Given the description of an element on the screen output the (x, y) to click on. 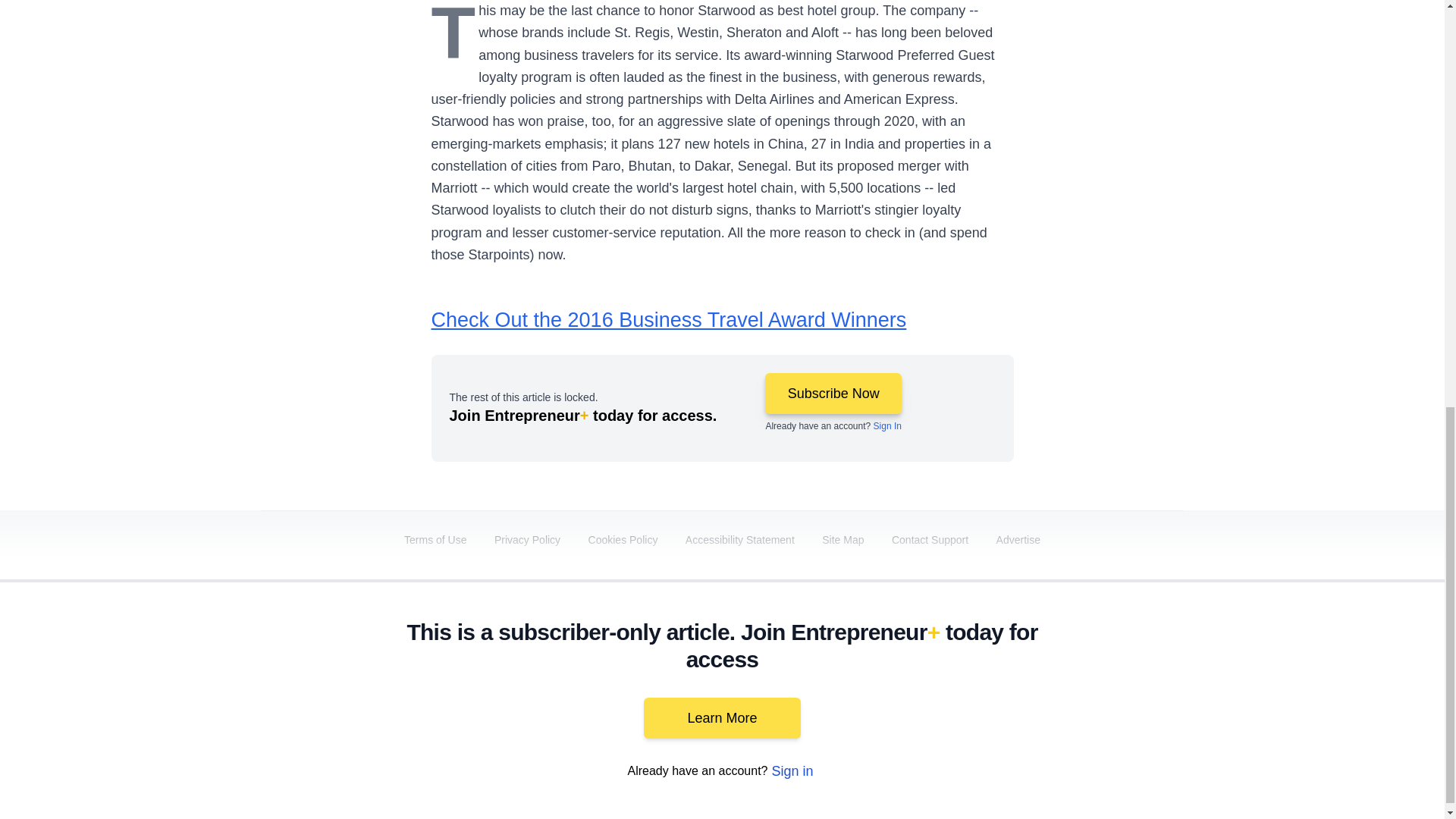
rss (1164, 700)
tiktok (1079, 700)
snapchat (1121, 700)
instagram (1037, 700)
linkedin (952, 700)
youtube (994, 700)
facebook (866, 700)
twitter (909, 700)
